Given the description of an element on the screen output the (x, y) to click on. 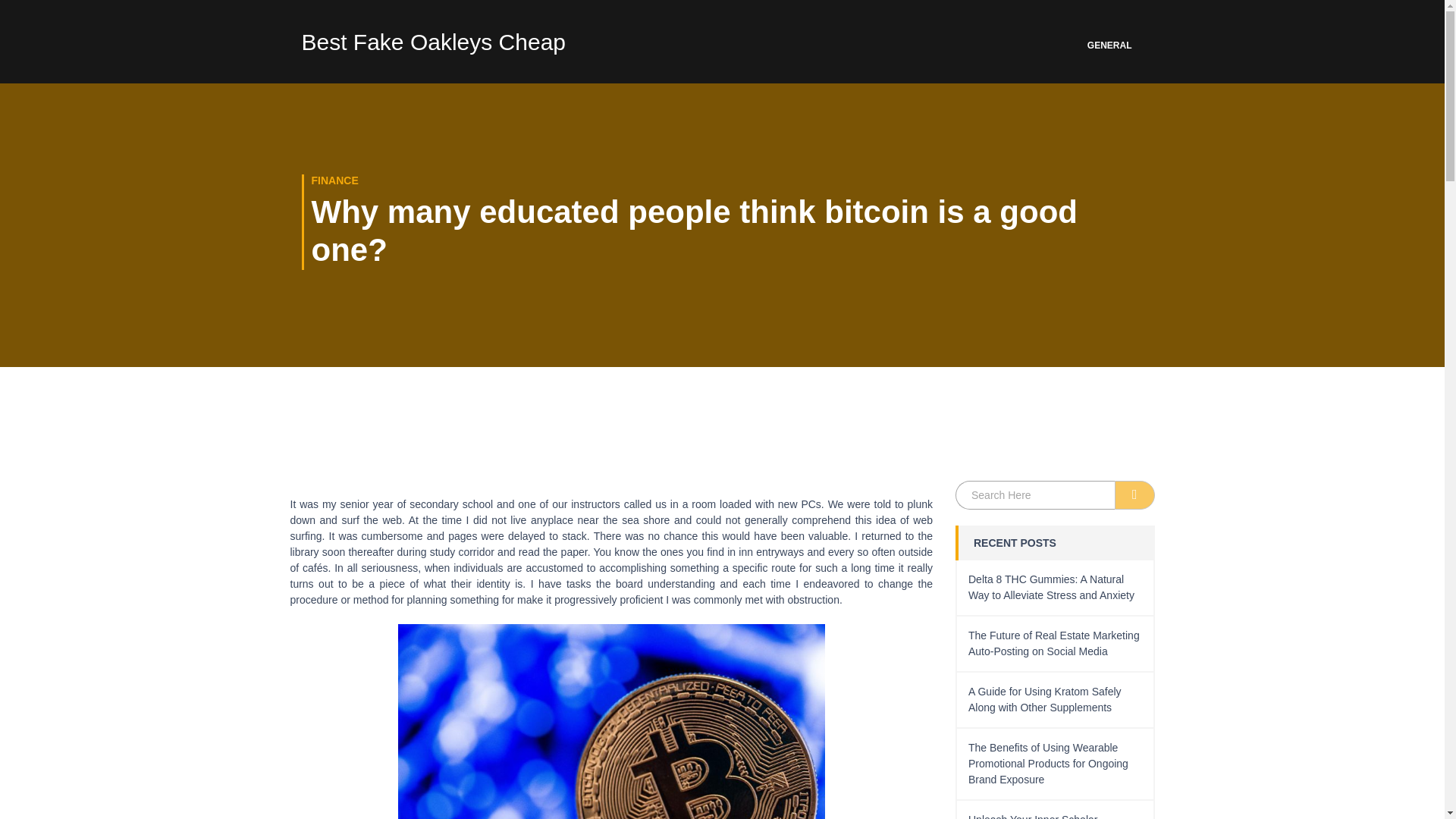
A Guide for Using Kratom Safely Along with Other Supplements (1044, 699)
General (1108, 45)
FINANCE (334, 180)
Best Fake Oakleys Cheap (433, 45)
GENERAL (1108, 45)
